Given the description of an element on the screen output the (x, y) to click on. 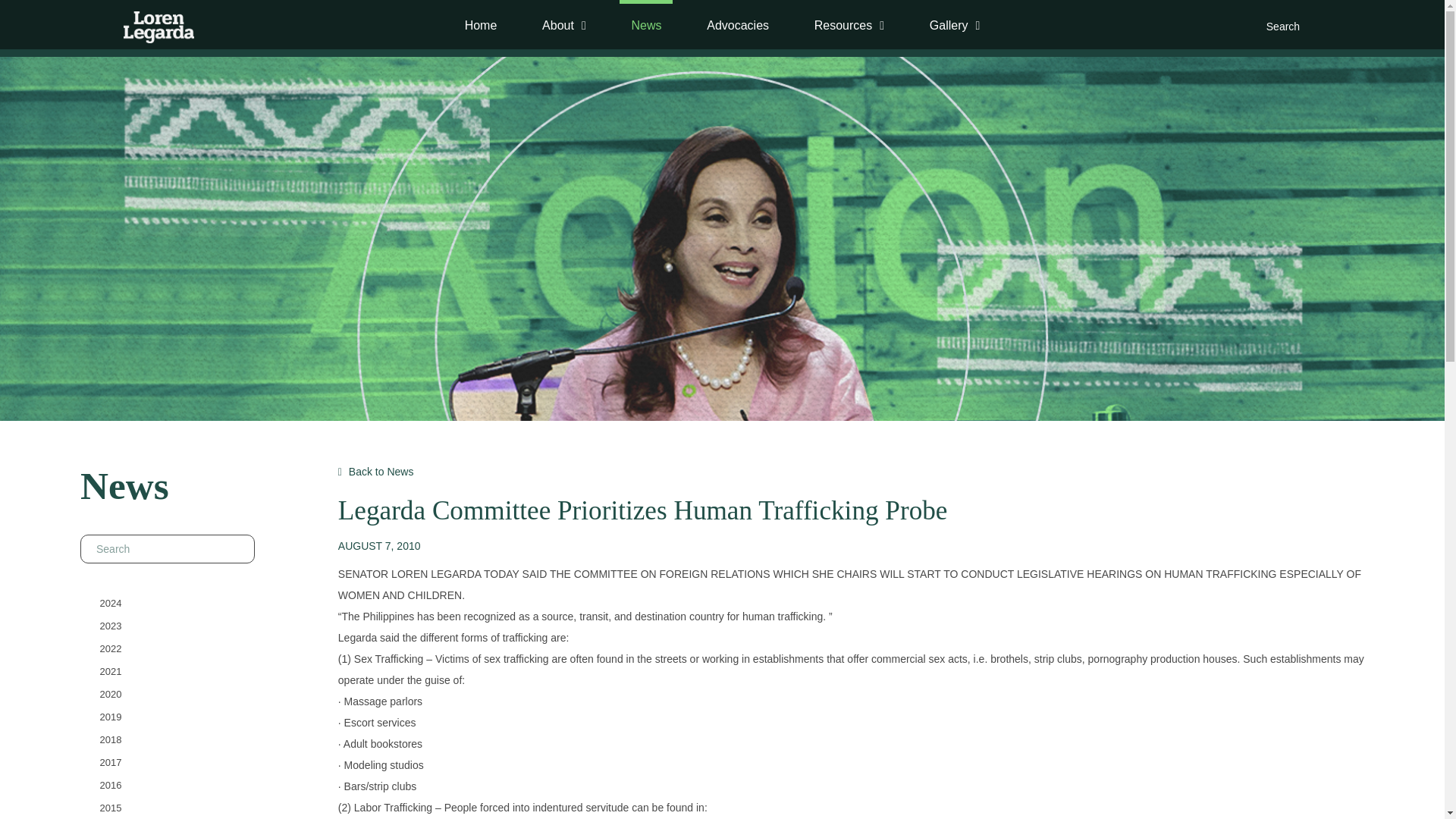
2023 (110, 624)
About (563, 25)
Home (480, 25)
2024 (110, 601)
News (646, 23)
Advocacies (737, 25)
Gallery (954, 25)
Resources (849, 25)
